Given the description of an element on the screen output the (x, y) to click on. 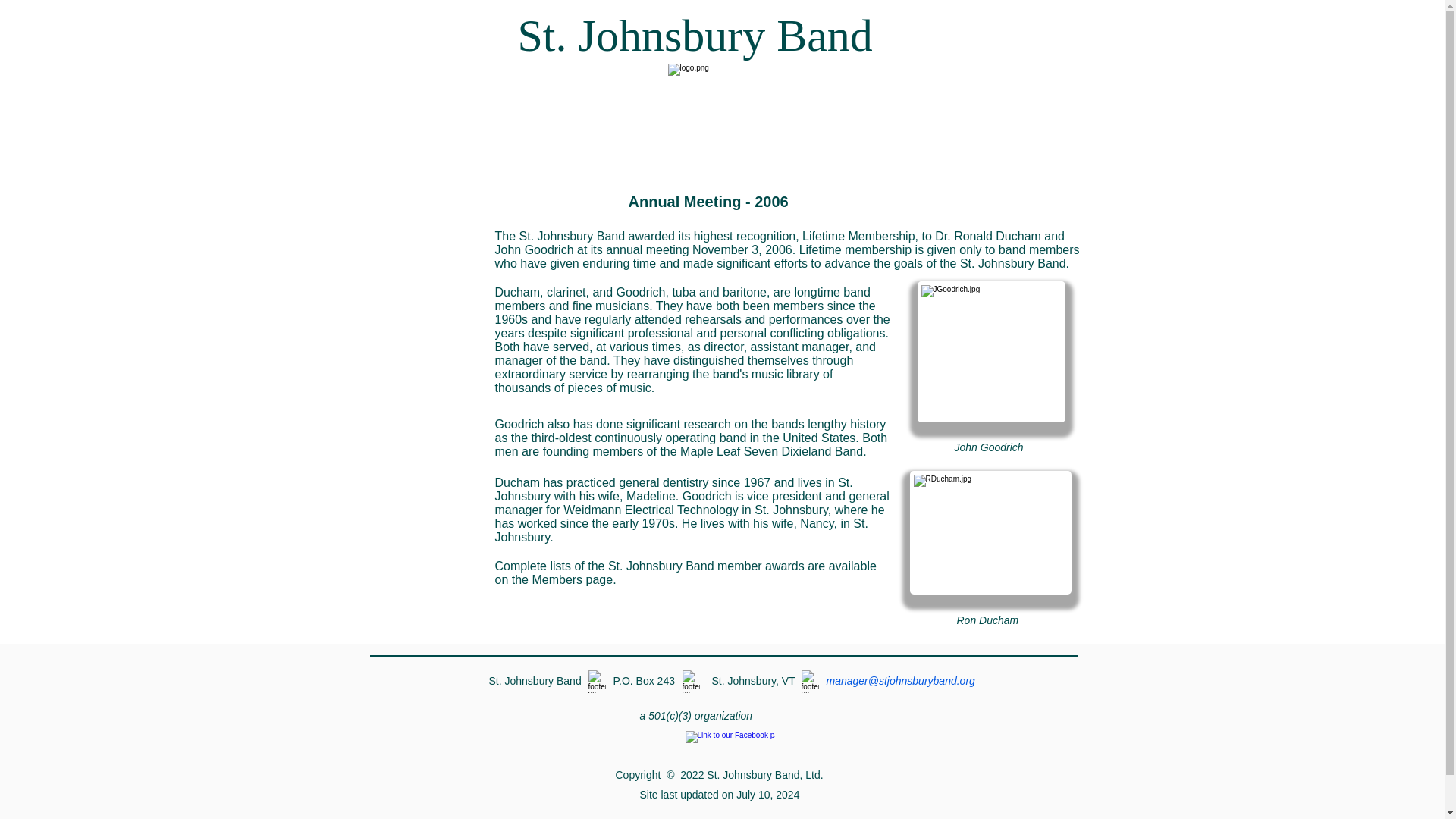
Calendar (413, 236)
John Goodrich (991, 351)
Contact Us (413, 379)
Ron Ducham (990, 532)
History (413, 307)
Home (413, 415)
Mission (413, 201)
News (413, 272)
Members (413, 343)
